Given the description of an element on the screen output the (x, y) to click on. 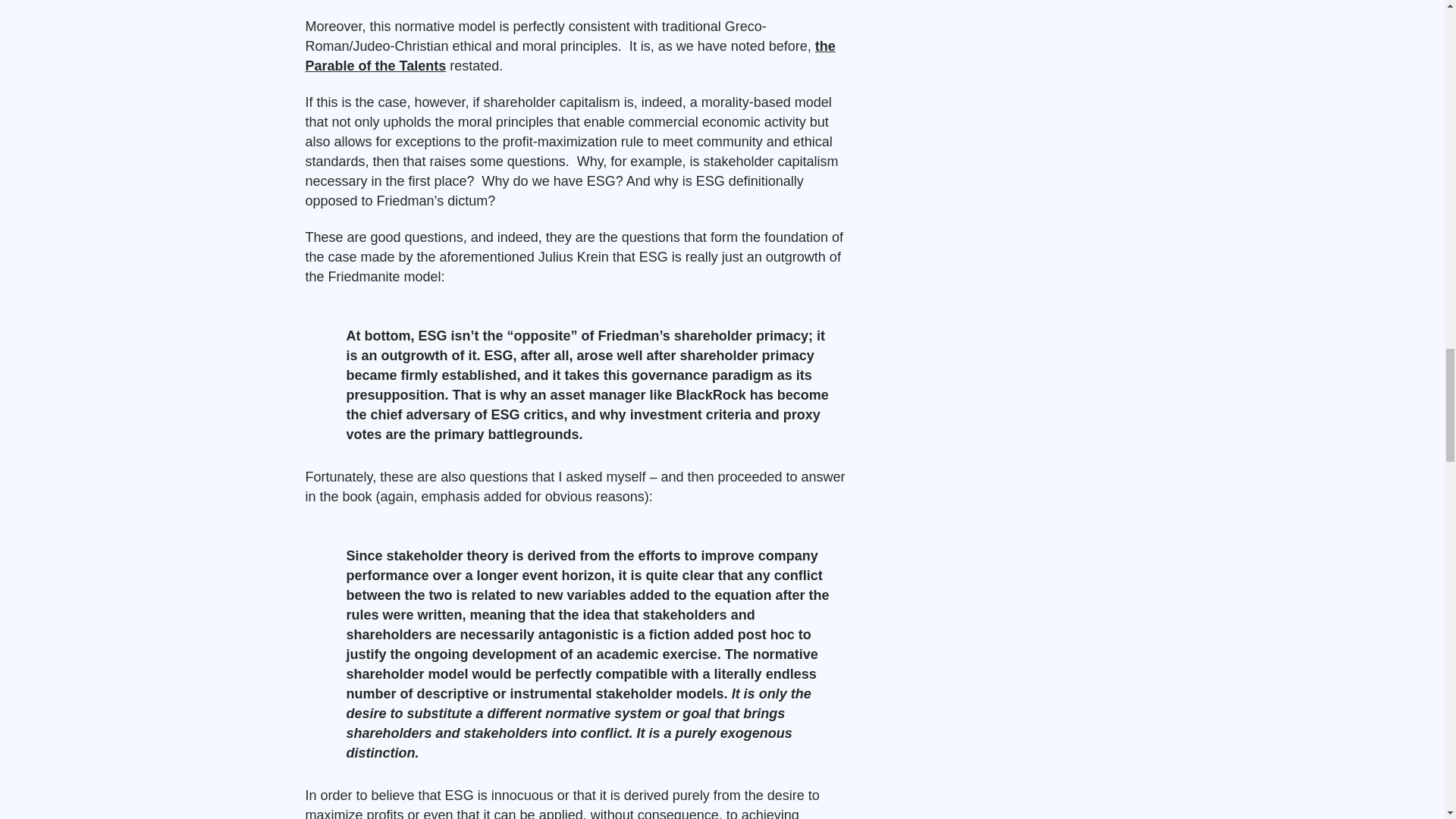
the Parable of the Talents (569, 55)
